Given the description of an element on the screen output the (x, y) to click on. 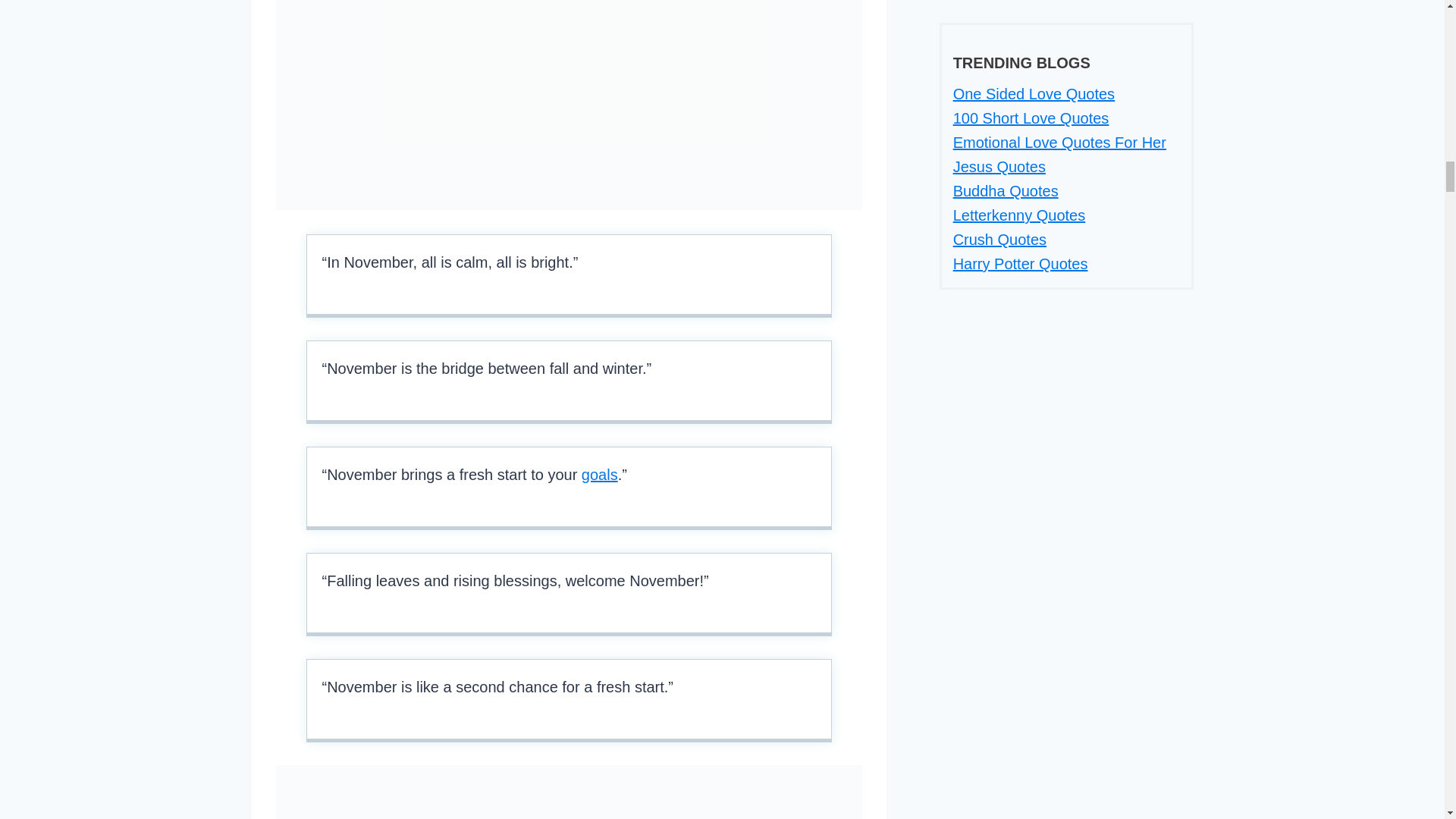
goals (598, 474)
